Given the description of an element on the screen output the (x, y) to click on. 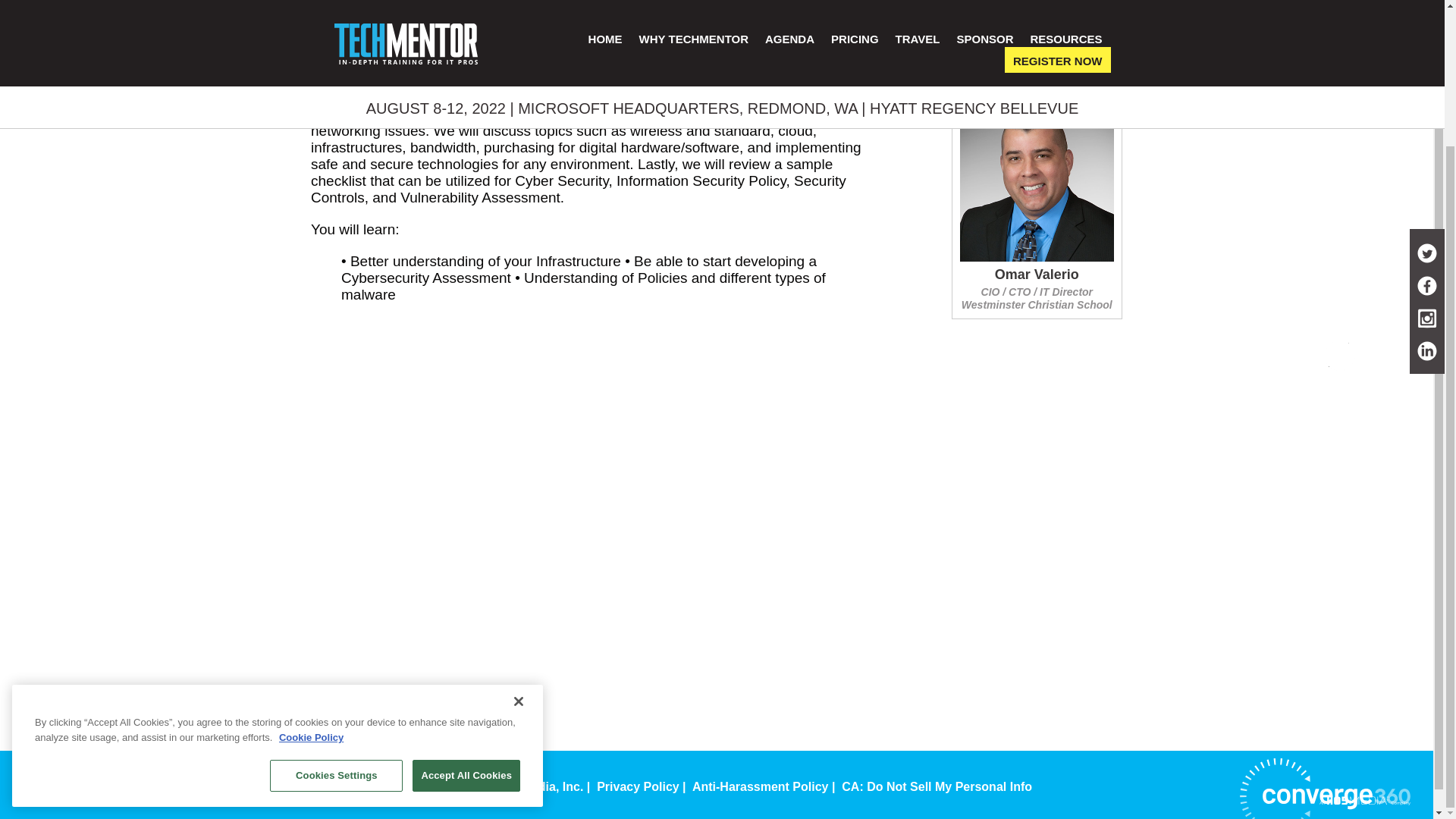
CA: Do Not Sell My Personal Info (936, 786)
Privacy Policy (637, 786)
Omar Valerio (1036, 275)
Anti-Harassment Policy (760, 786)
Contact Us (432, 786)
